Given the description of an element on the screen output the (x, y) to click on. 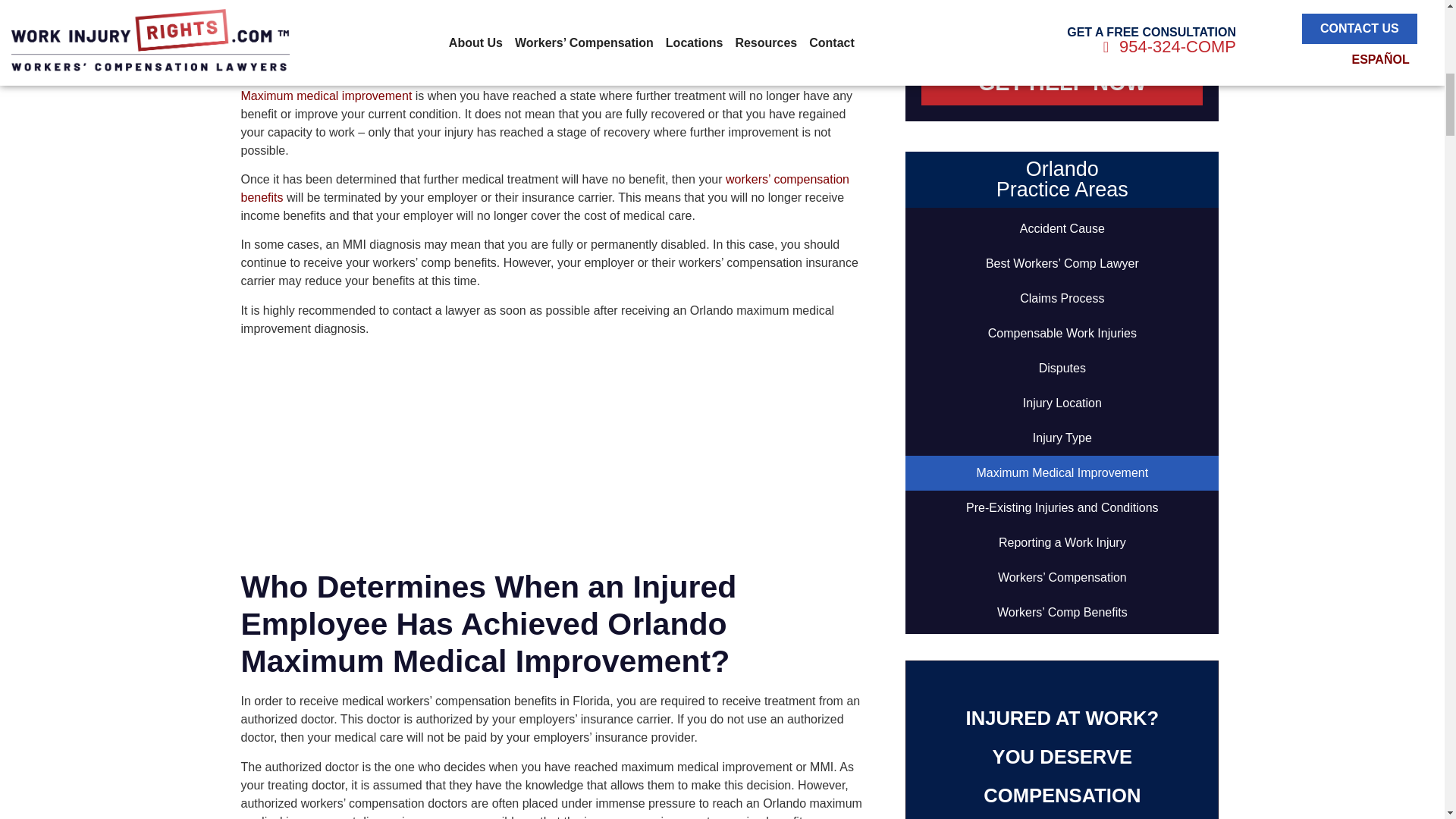
on (926, 34)
